Given the description of an element on the screen output the (x, y) to click on. 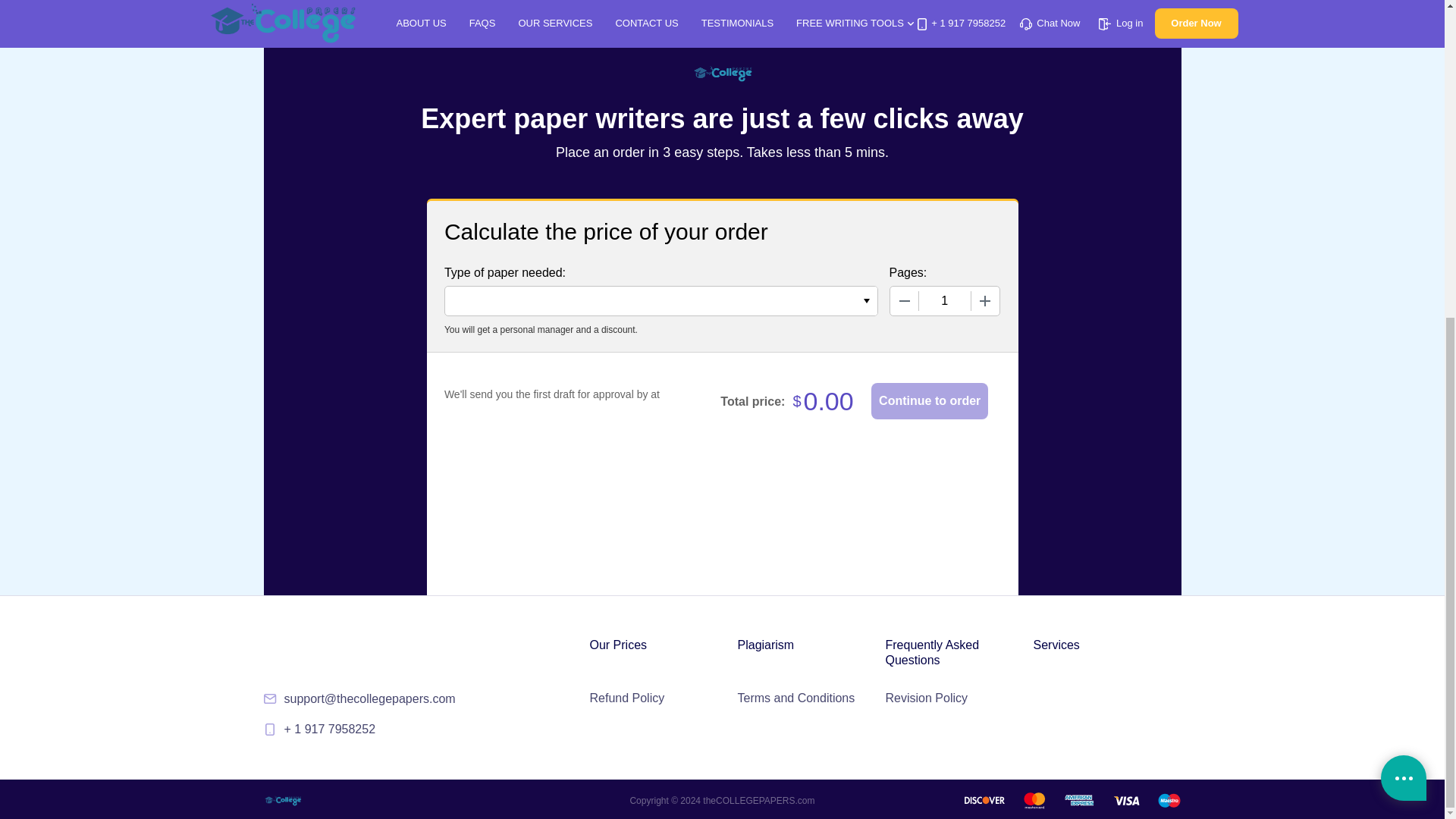
1 (944, 300)
Plagiarism (764, 645)
Services (1055, 645)
Increase (984, 300)
Revision Policy (926, 697)
Continue to order (929, 401)
Terms and Conditions (795, 697)
Decrease (903, 300)
Continue to Order (929, 401)
Frequently Asked Questions (957, 653)
Refund Policy (627, 697)
Our Prices (618, 645)
